Given the description of an element on the screen output the (x, y) to click on. 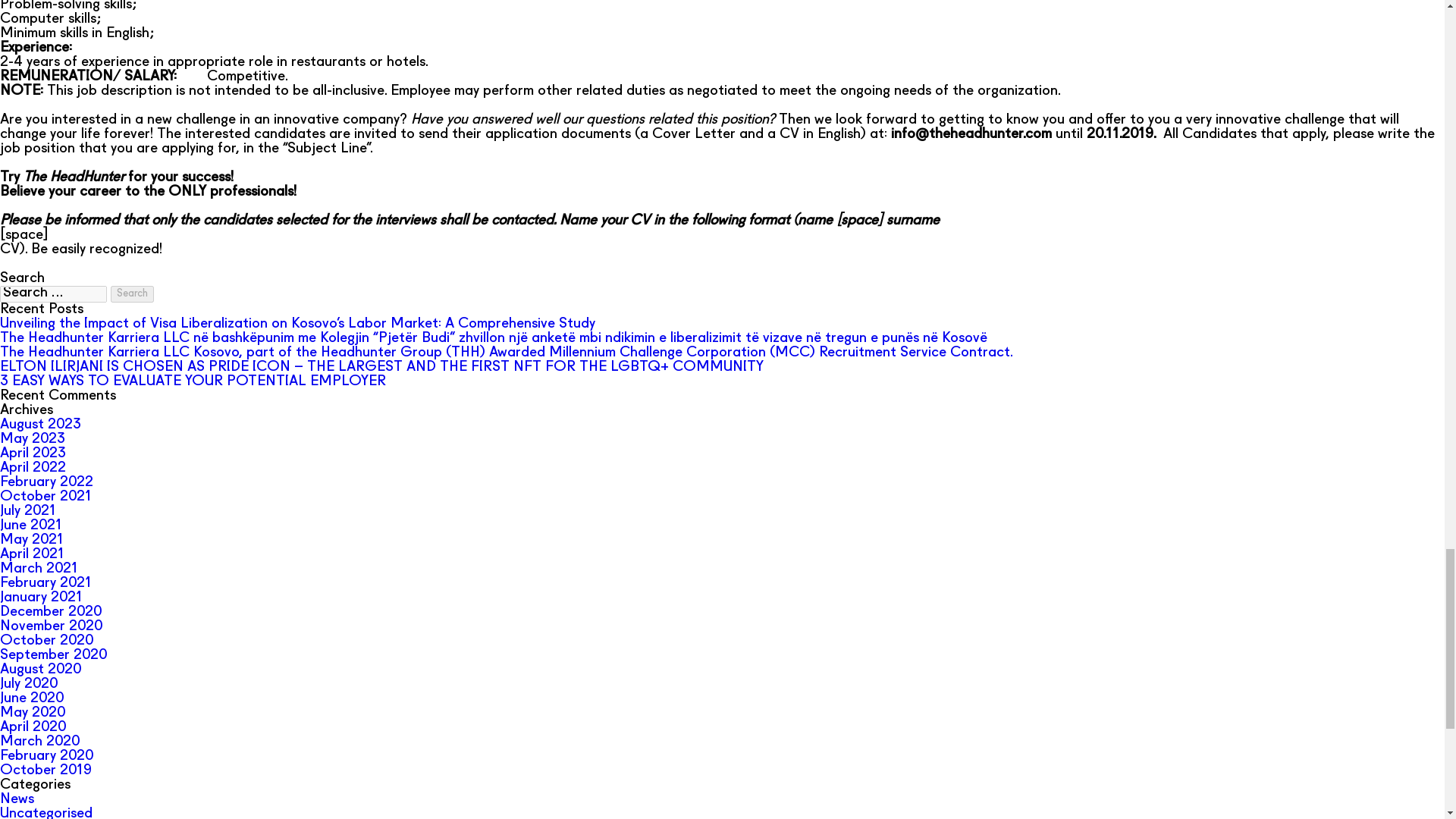
April 2022 (32, 468)
3 EASY WAYS TO EVALUATE YOUR POTENTIAL EMPLOYER (192, 381)
August 2023 (40, 424)
Search (132, 293)
April 2023 (32, 453)
Search (132, 293)
May 2023 (32, 439)
Search (132, 293)
